Given the description of an element on the screen output the (x, y) to click on. 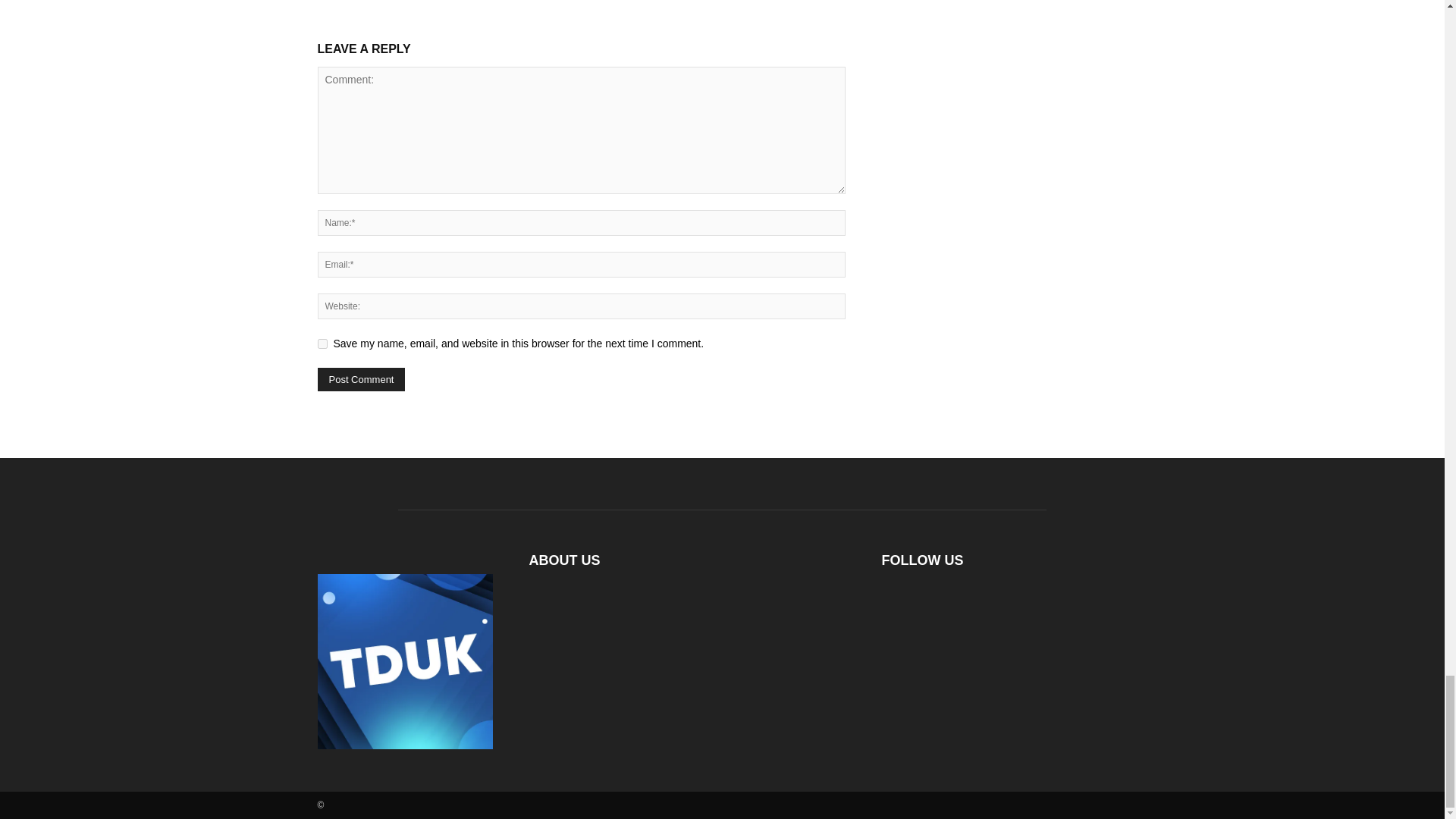
yes (321, 343)
Post Comment (360, 379)
